Given the description of an element on the screen output the (x, y) to click on. 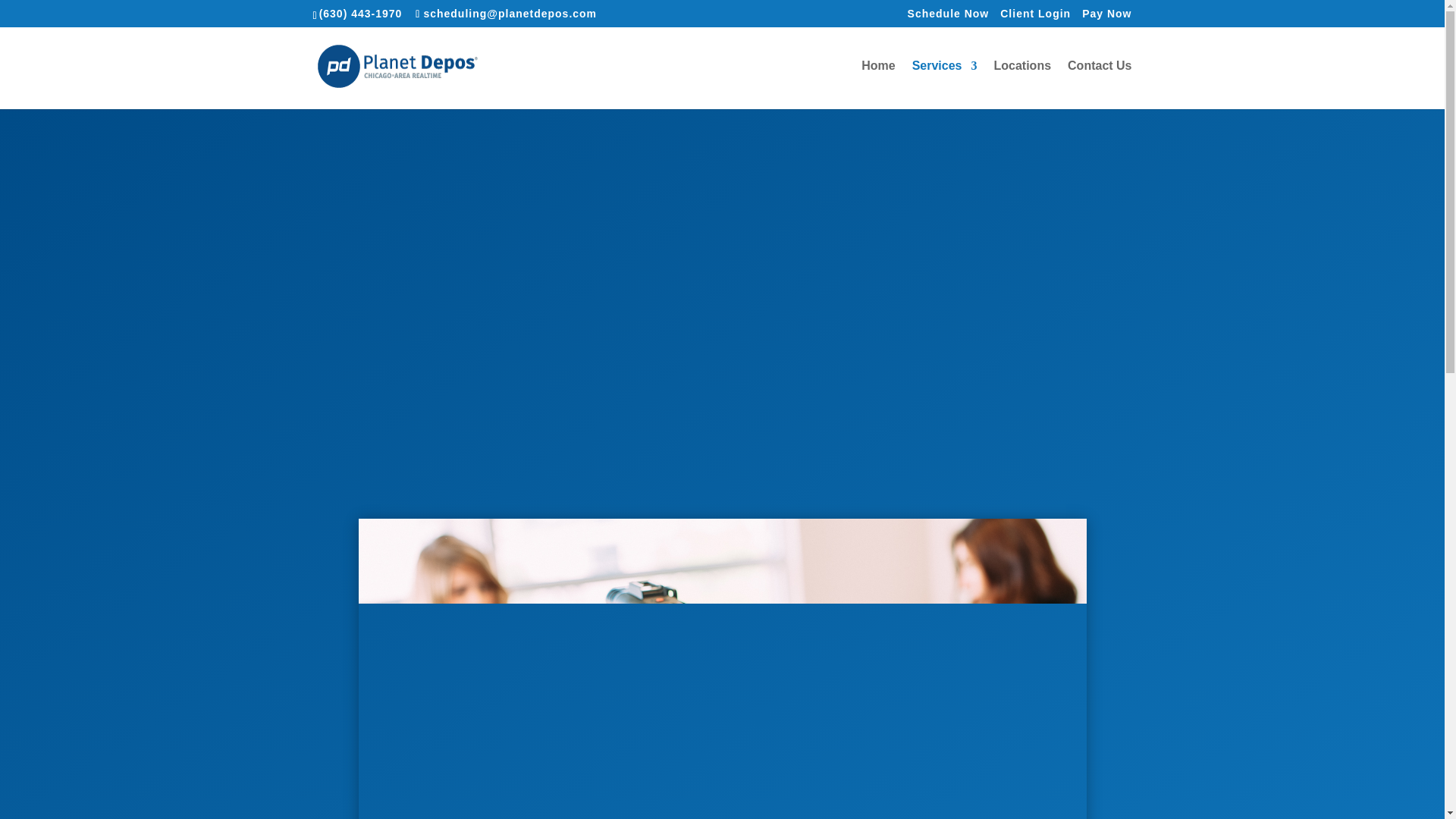
Pay Now (1106, 16)
Locations (1021, 84)
Schedule Now (948, 16)
Services (944, 84)
Contact Us (1099, 84)
Client Login (1035, 16)
